Given the description of an element on the screen output the (x, y) to click on. 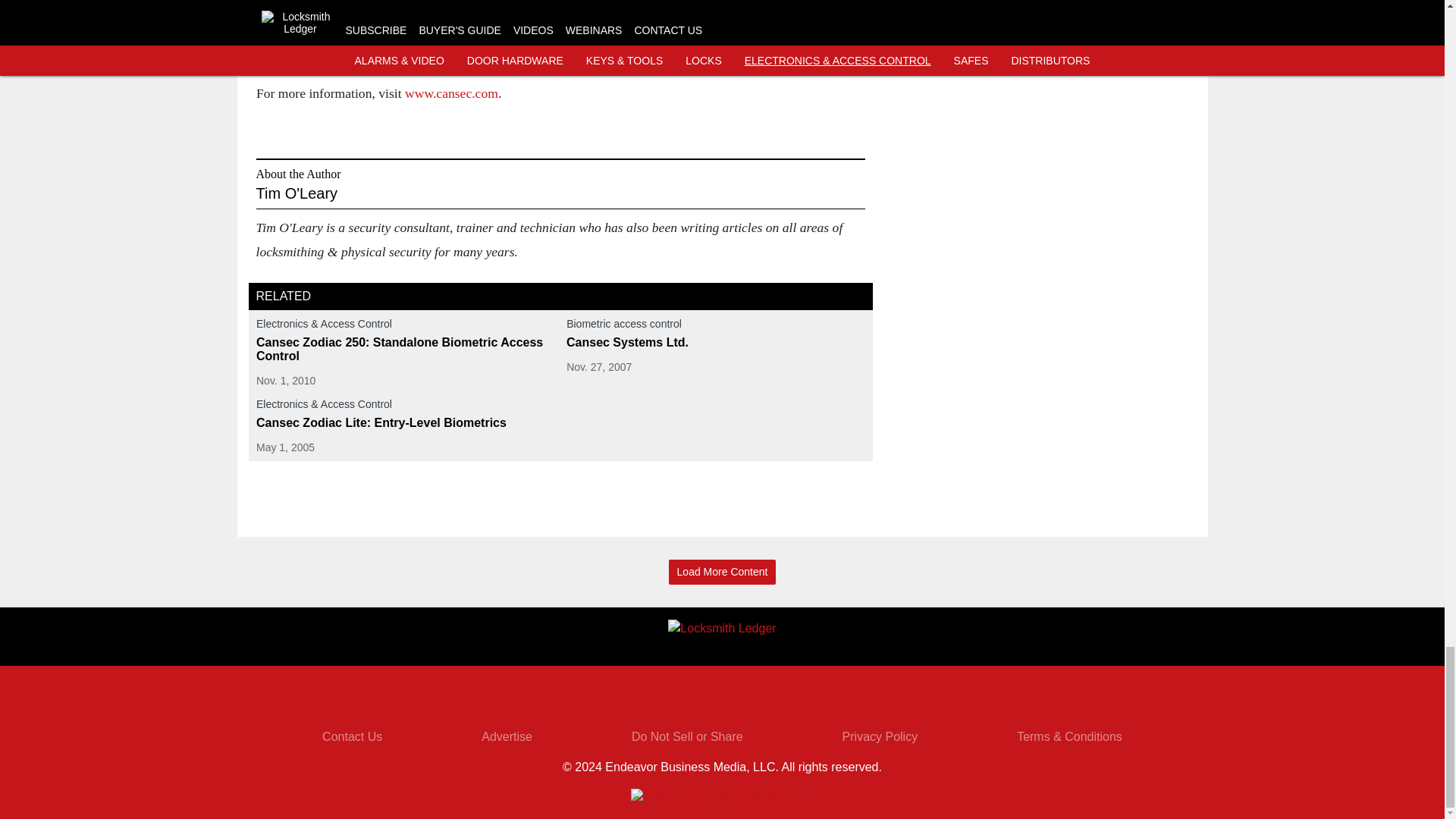
Biometric access control (715, 326)
Cansec Systems Ltd. (715, 342)
www.cansec.com (450, 92)
Cansec Zodiac Lite: Entry-Level Biometrics (405, 422)
Cansec Zodiac 250: Standalone Biometric Access Control (405, 349)
